Given the description of an element on the screen output the (x, y) to click on. 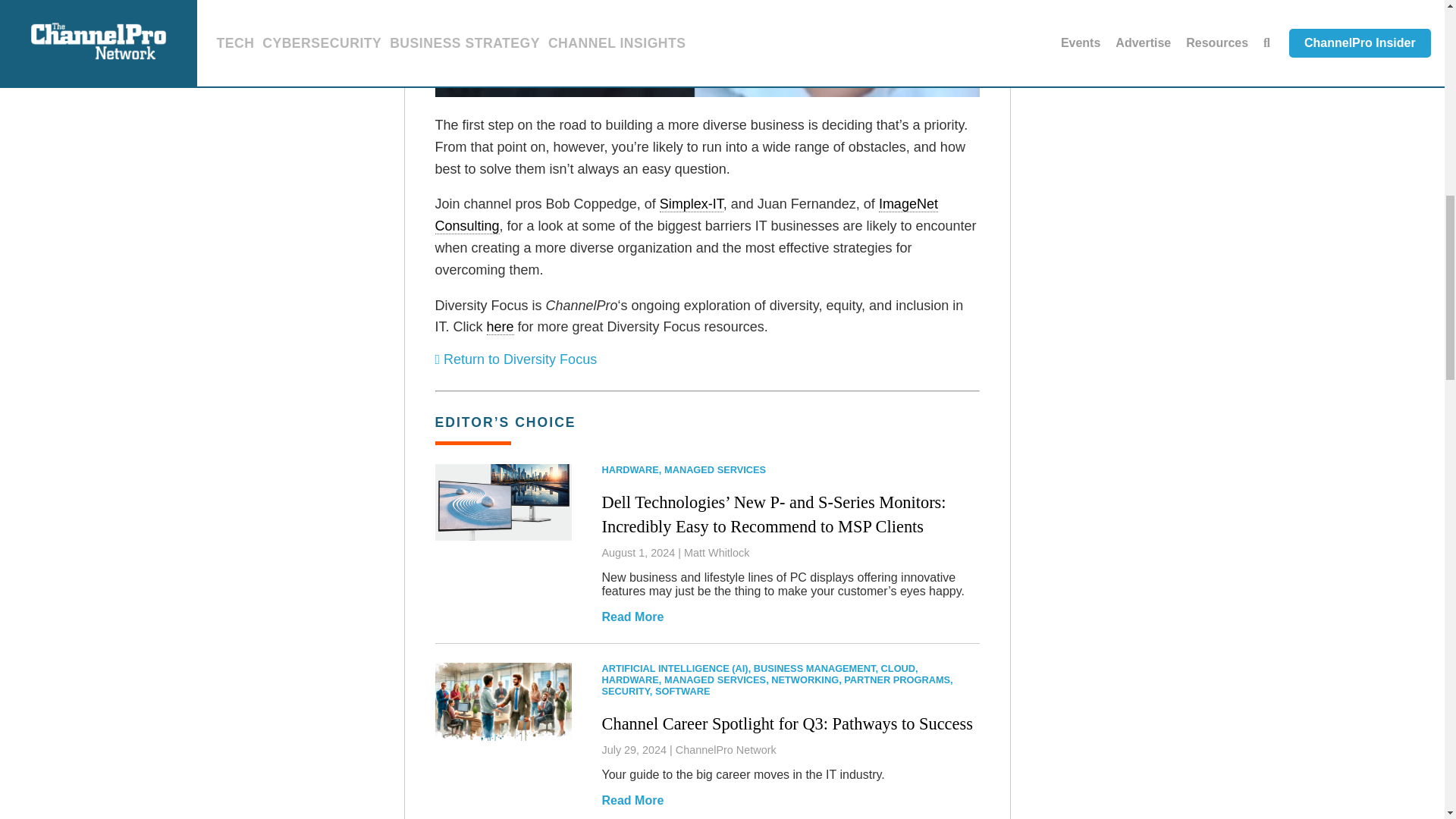
Posts by Matt Whitlock (716, 552)
Posts by ChannelPro Network (725, 749)
